Given the description of an element on the screen output the (x, y) to click on. 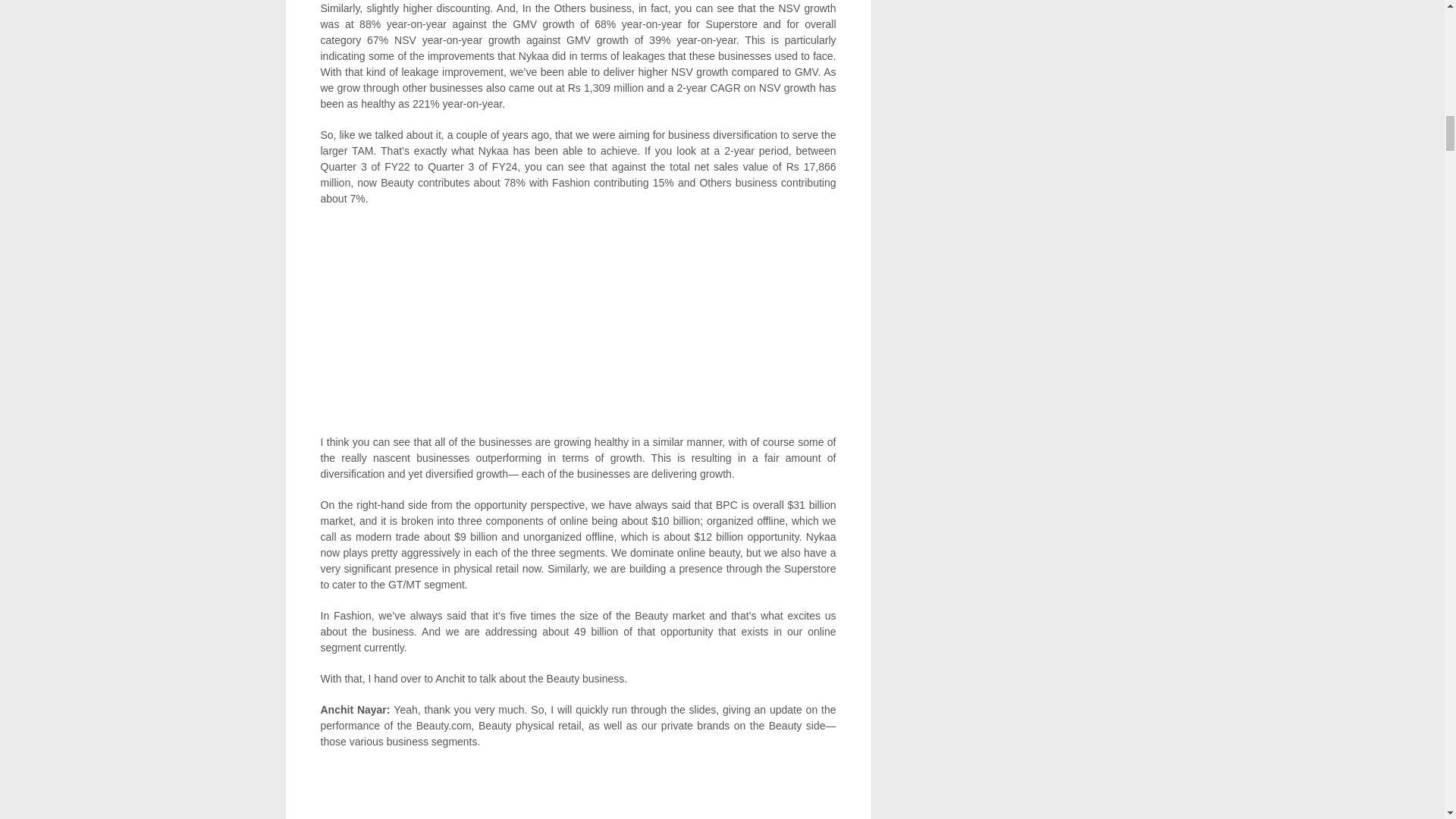
Advertisement (577, 327)
